Given the description of an element on the screen output the (x, y) to click on. 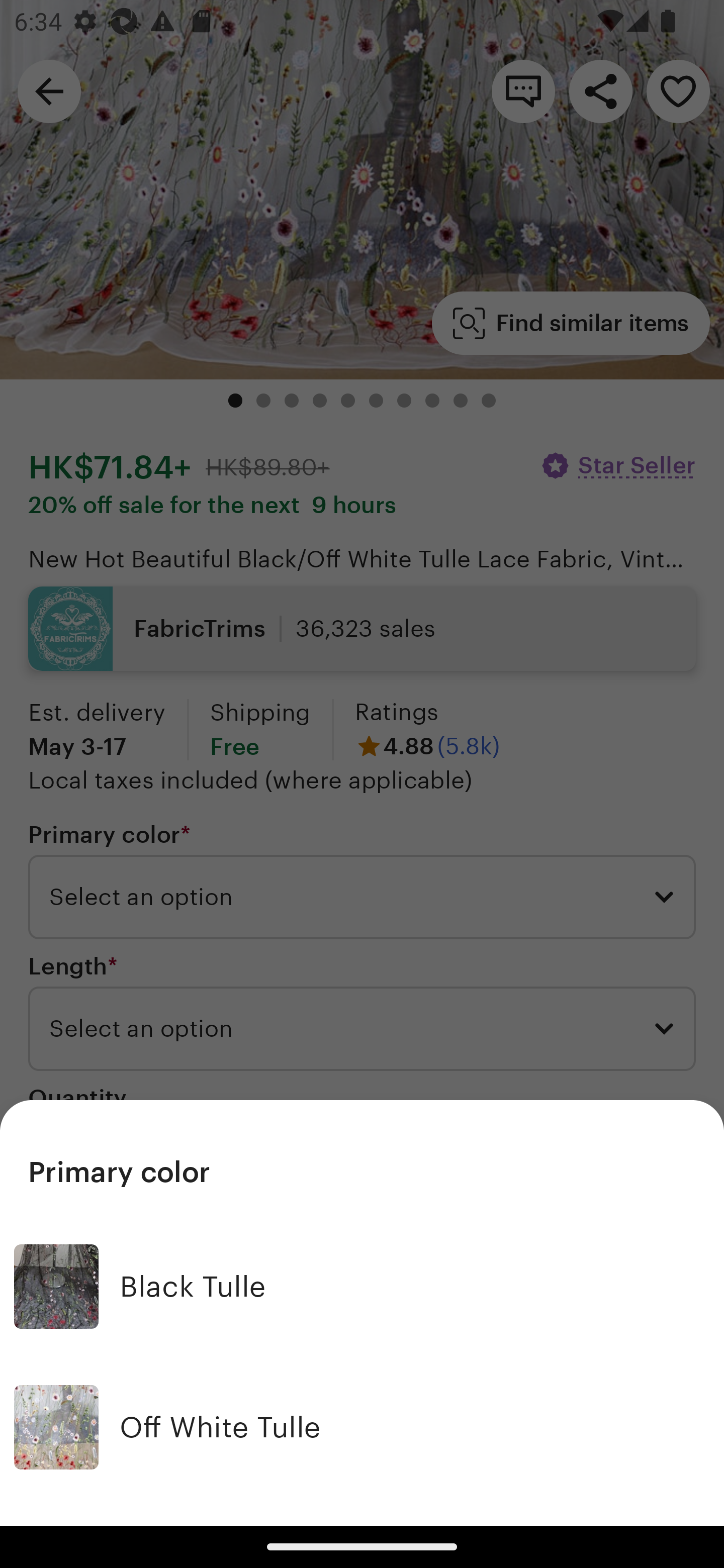
Black Tulle (362, 1286)
Off White Tulle (362, 1426)
